Given the description of an element on the screen output the (x, y) to click on. 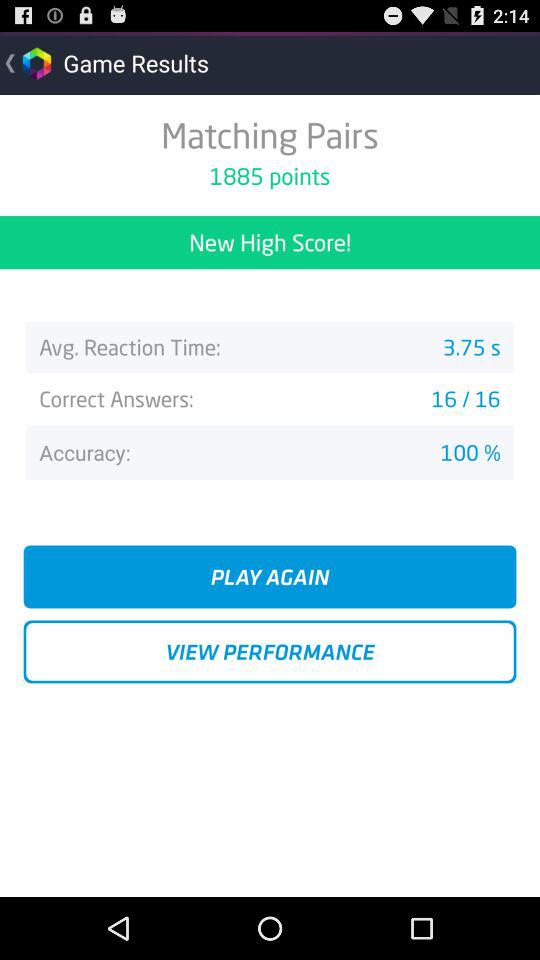
choose button above the view performance icon (269, 576)
